Given the description of an element on the screen output the (x, y) to click on. 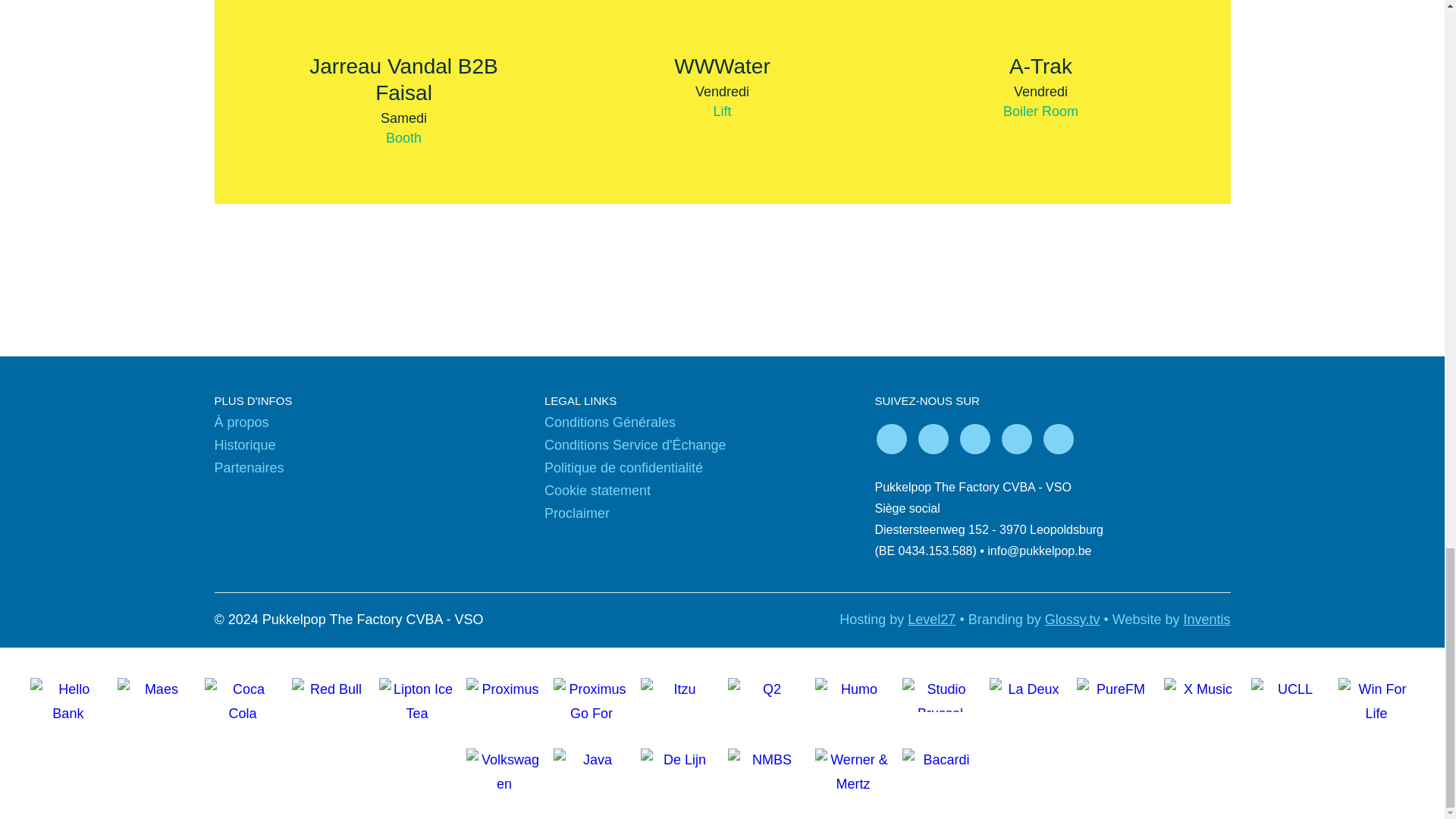
Win For Life (1376, 697)
Volkswagen (504, 768)
Studio Brussel (939, 694)
Humo (852, 697)
Maes (154, 697)
Hello Bank (403, 79)
Lipton Ice Tea (721, 65)
Itzu (68, 697)
